Given the description of an element on the screen output the (x, y) to click on. 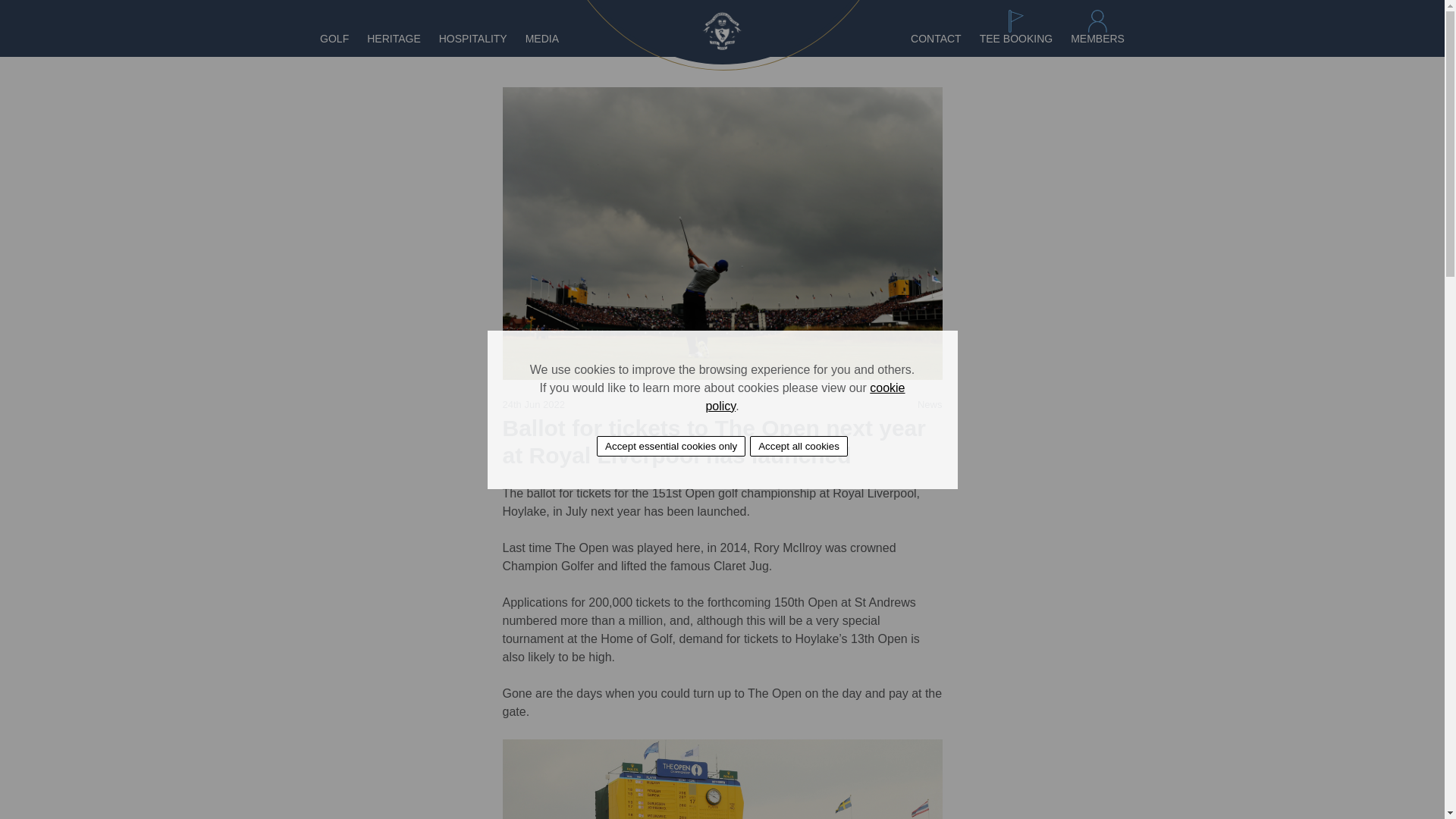
MEMBERS (1097, 38)
HERITAGE (393, 38)
MEDIA (542, 38)
HOSPITALITY (472, 38)
GOLF (334, 38)
TEE BOOKING (1015, 38)
CONTACT (935, 38)
